Given the description of an element on the screen output the (x, y) to click on. 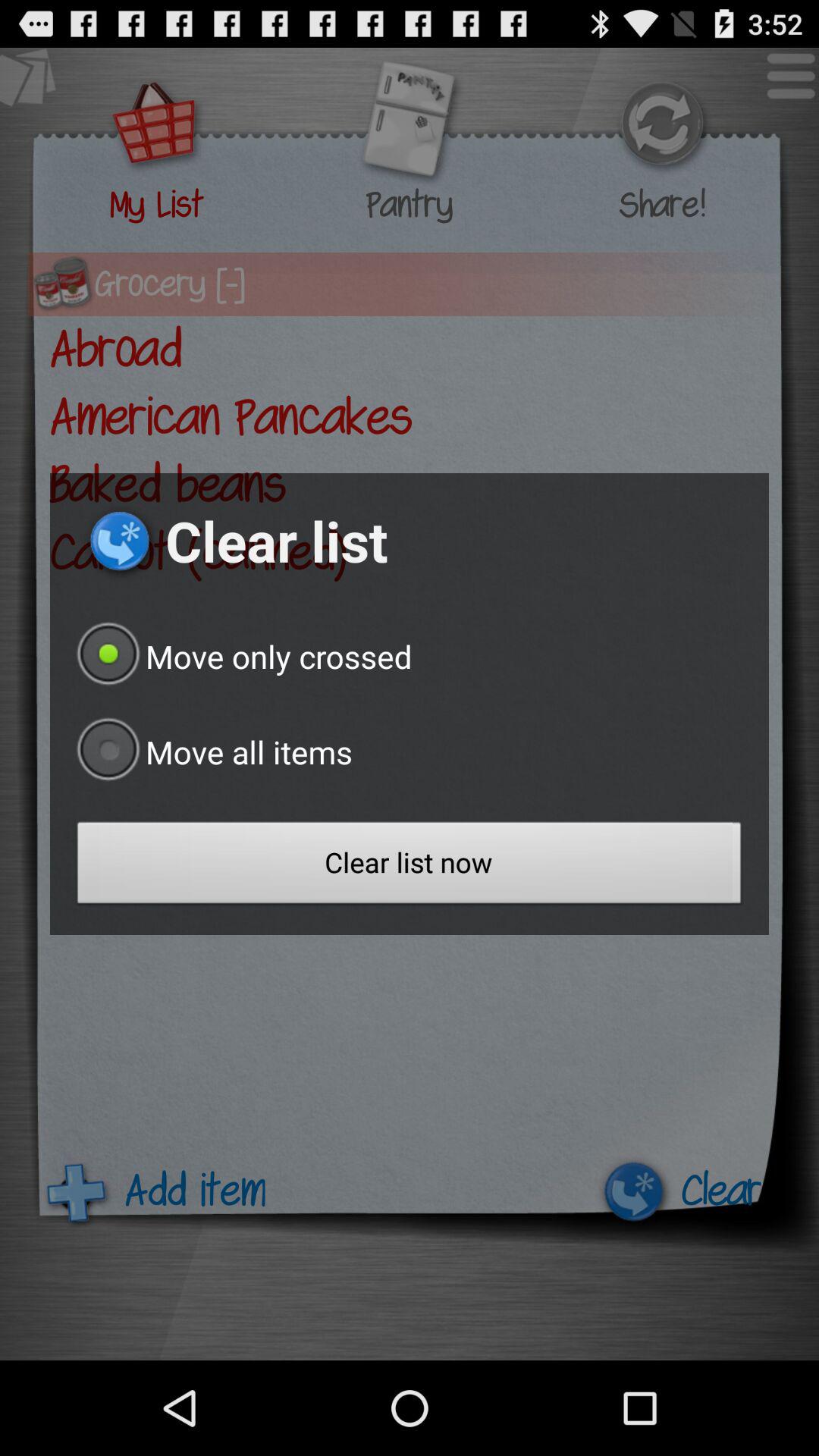
scroll until move all items icon (210, 751)
